Given the description of an element on the screen output the (x, y) to click on. 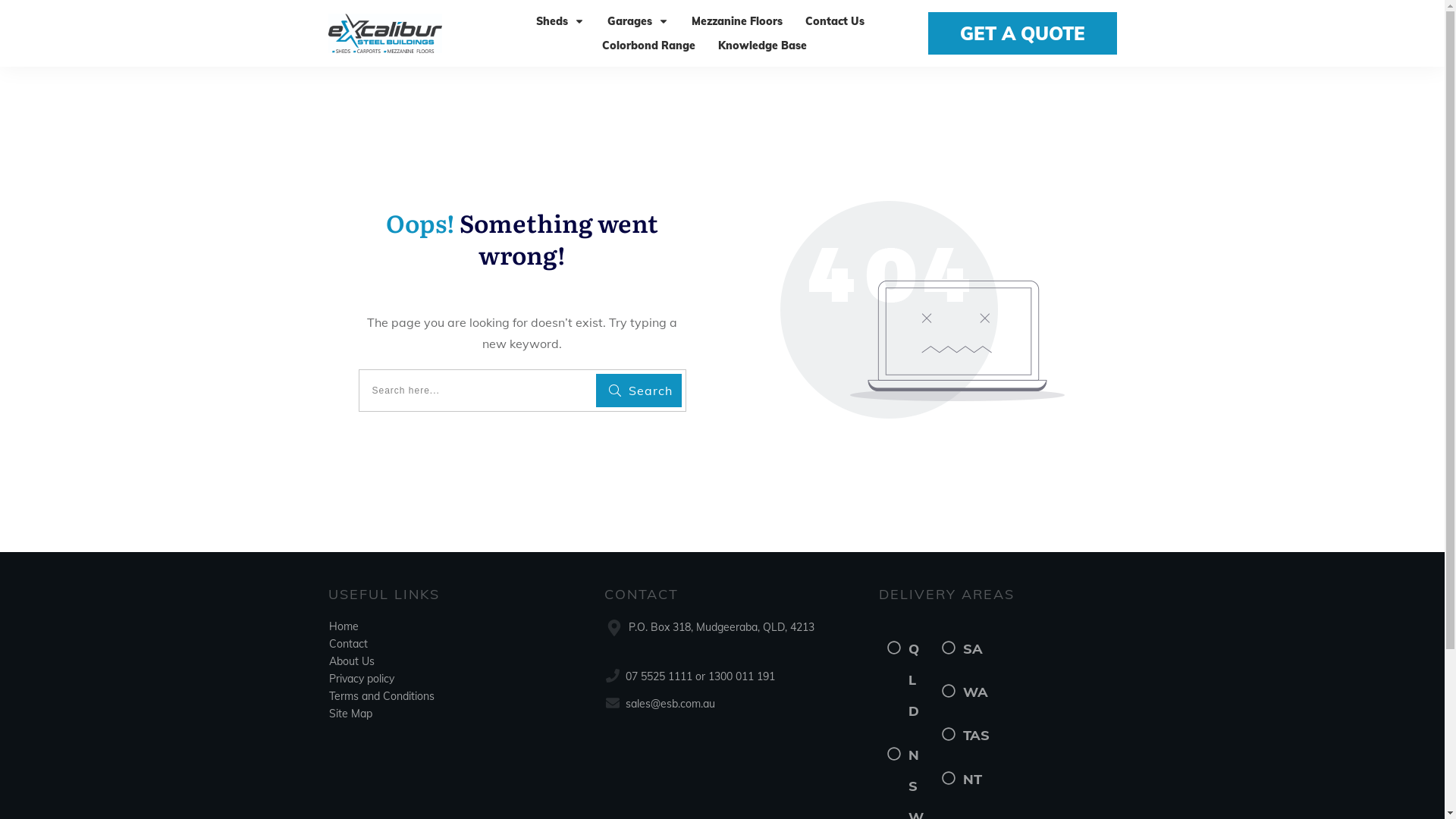
Search Element type: text (638, 390)
WA Element type: text (975, 691)
QLD Element type: text (913, 680)
GET A QUOTE Element type: text (1022, 33)
Colorbond Range Element type: text (648, 45)
Sheds Element type: text (560, 20)
Home Element type: text (343, 625)
404 Element type: hover (922, 308)
Terms and Conditions Element type: text (381, 695)
About Us Element type: text (351, 660)
Mezzanine Floors Element type: text (736, 20)
Site Map Element type: text (350, 713)
Contact Element type: text (348, 643)
Knowledge Base Element type: text (762, 45)
Privacy policy Element type: text (361, 678)
Contact Us Element type: text (834, 20)
SA Element type: text (972, 648)
Garages Element type: text (637, 20)
